Given the description of an element on the screen output the (x, y) to click on. 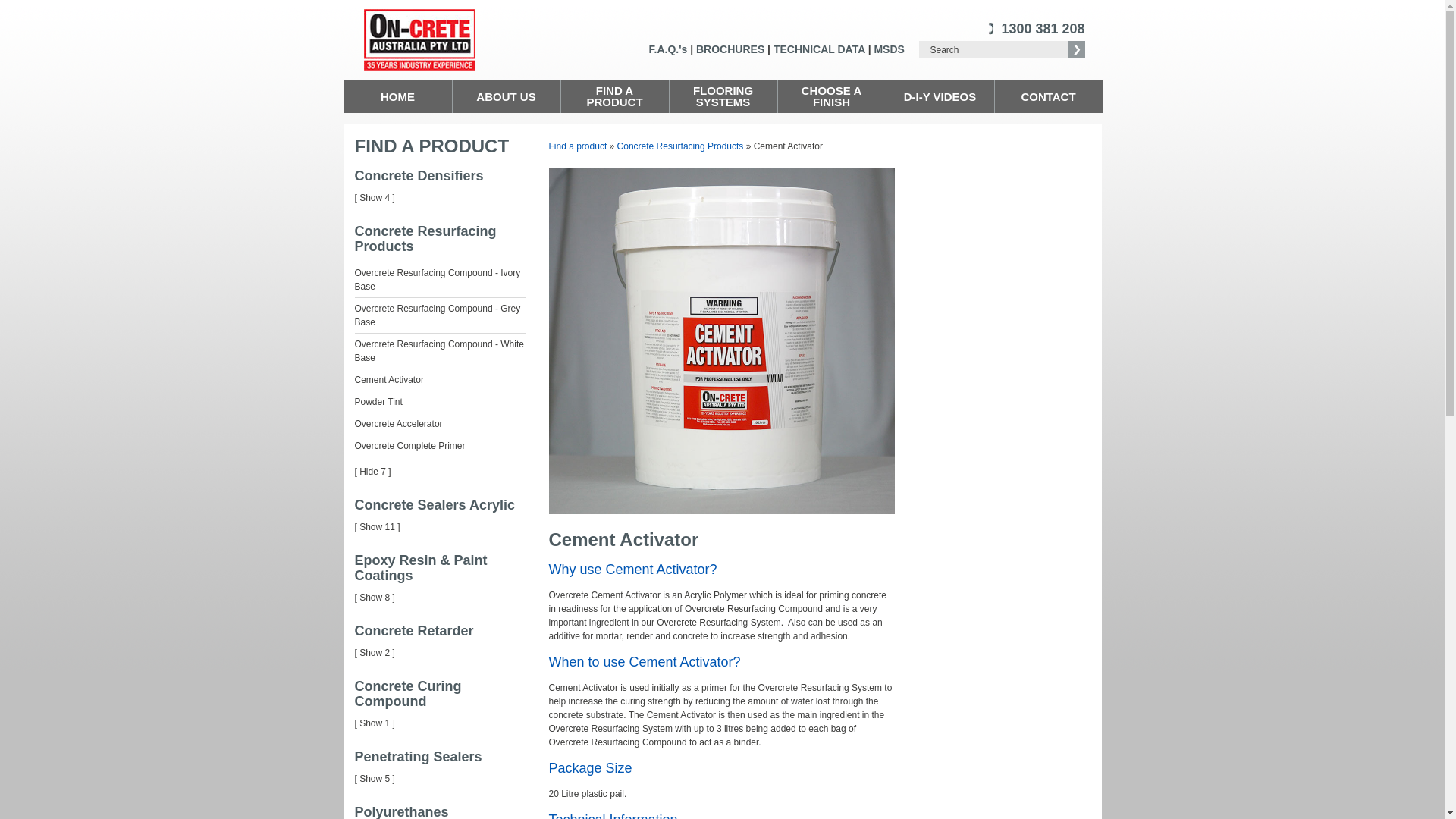
BROCHURES Element type: text (730, 49)
FIND A PRODUCT Element type: text (615, 95)
Overcrete Resurfacing Compound - Ivory Base Element type: text (437, 279)
TECHNICAL DATA Element type: text (819, 49)
Overcrete Resurfacing Compound - White Base Element type: text (439, 350)
Epoxy Resin & Paint Coatings Element type: text (420, 567)
CONTACT Element type: text (1048, 95)
Penetrating Sealers Element type: text (418, 756)
Overcrete Resurfacing Compound - Grey Base Element type: text (437, 315)
F.A.Q.'s Element type: text (668, 49)
Concrete Curing Compound Element type: text (407, 693)
Concrete Densifiers Element type: text (418, 175)
Cement Activator Element type: text (388, 379)
Powder Tint Element type: text (378, 401)
FLOORING SYSTEMS Element type: text (722, 95)
Concrete Resurfacing Products Element type: text (425, 238)
[ Show 8 ] Element type: text (374, 597)
[ Show 4 ] Element type: text (374, 197)
[ Show 1 ] Element type: text (374, 723)
Overcrete Accelerator Element type: text (398, 423)
Find a product Element type: text (578, 146)
Concrete Sealers Acrylic Element type: text (434, 504)
Search Element type: text (993, 49)
Concrete Resurfacing Products Element type: text (680, 146)
CHOOSE A FINISH Element type: text (832, 95)
ABOUT US Element type: text (505, 95)
[ Show 2 ] Element type: text (374, 652)
HOME Element type: text (398, 95)
[ Hide 7 ] Element type: text (372, 471)
FIND A PRODUCT Element type: text (431, 145)
[ Show 11 ] Element type: text (377, 526)
D-I-Y VIDEOS Element type: text (939, 95)
[ Show 5 ] Element type: text (374, 778)
MSDS Element type: text (888, 49)
Overcrete Complete Primer Element type: text (409, 445)
Concrete Retarder Element type: text (413, 630)
